Given the description of an element on the screen output the (x, y) to click on. 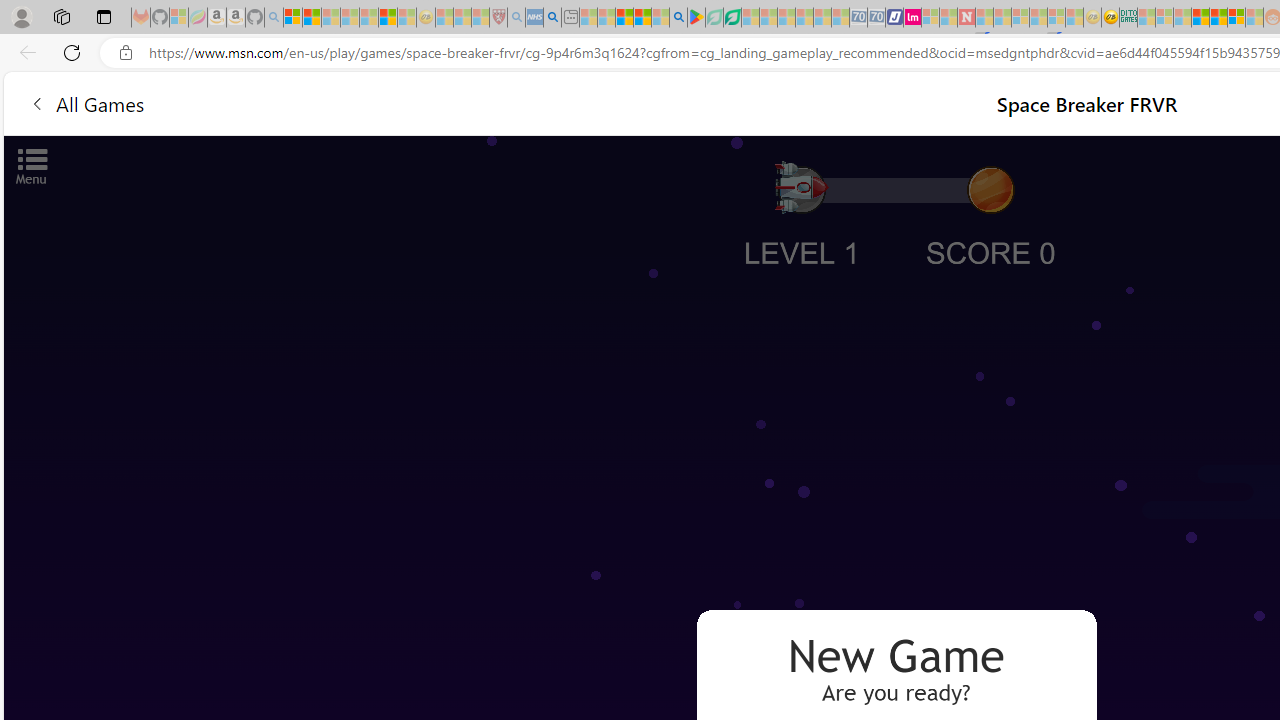
Kinda Frugal - MSN (1218, 17)
Microsoft Word - consumer-privacy address update 2.2021 (732, 17)
Pets - MSN (642, 17)
